Given the description of an element on the screen output the (x, y) to click on. 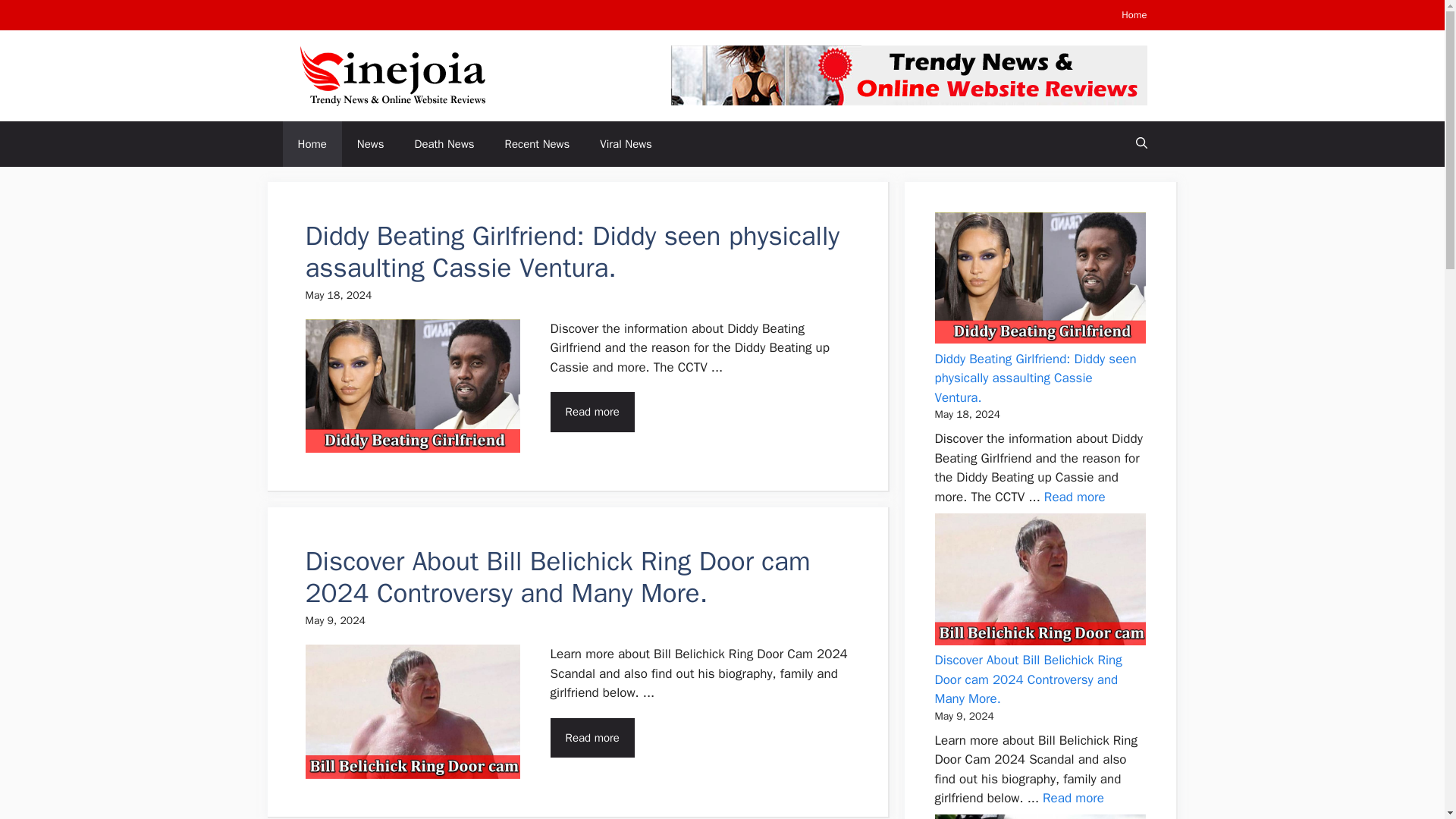
Death News (443, 144)
Recent News (537, 144)
Read more (592, 738)
Read more (1072, 797)
Read more (592, 412)
News (370, 144)
Read more (1074, 496)
Viral News (625, 144)
Home (1134, 14)
Home (311, 144)
